Given the description of an element on the screen output the (x, y) to click on. 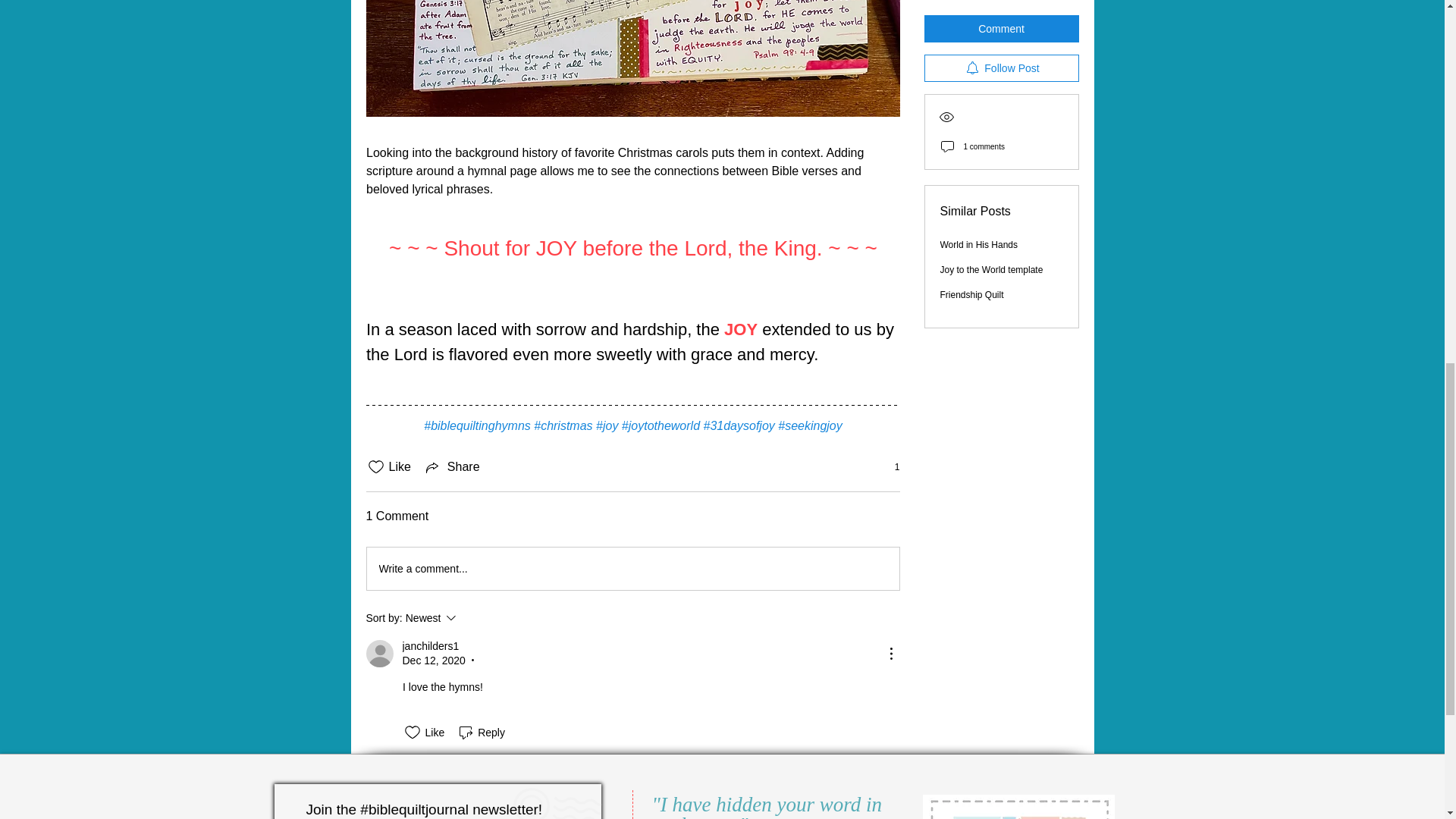
1 (888, 467)
Reply (481, 732)
Share (471, 618)
Write a comment... (451, 466)
janchilders1 (632, 568)
